Given the description of an element on the screen output the (x, y) to click on. 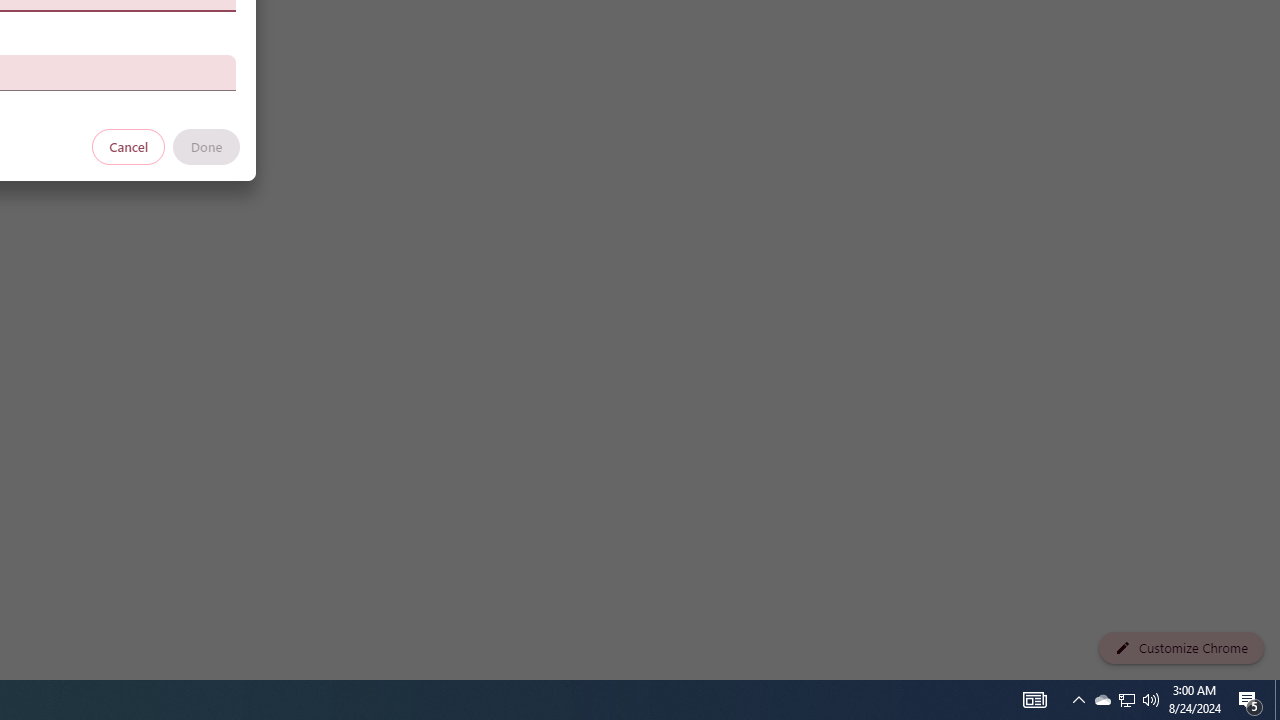
Cancel (129, 146)
Done (206, 146)
